Given the description of an element on the screen output the (x, y) to click on. 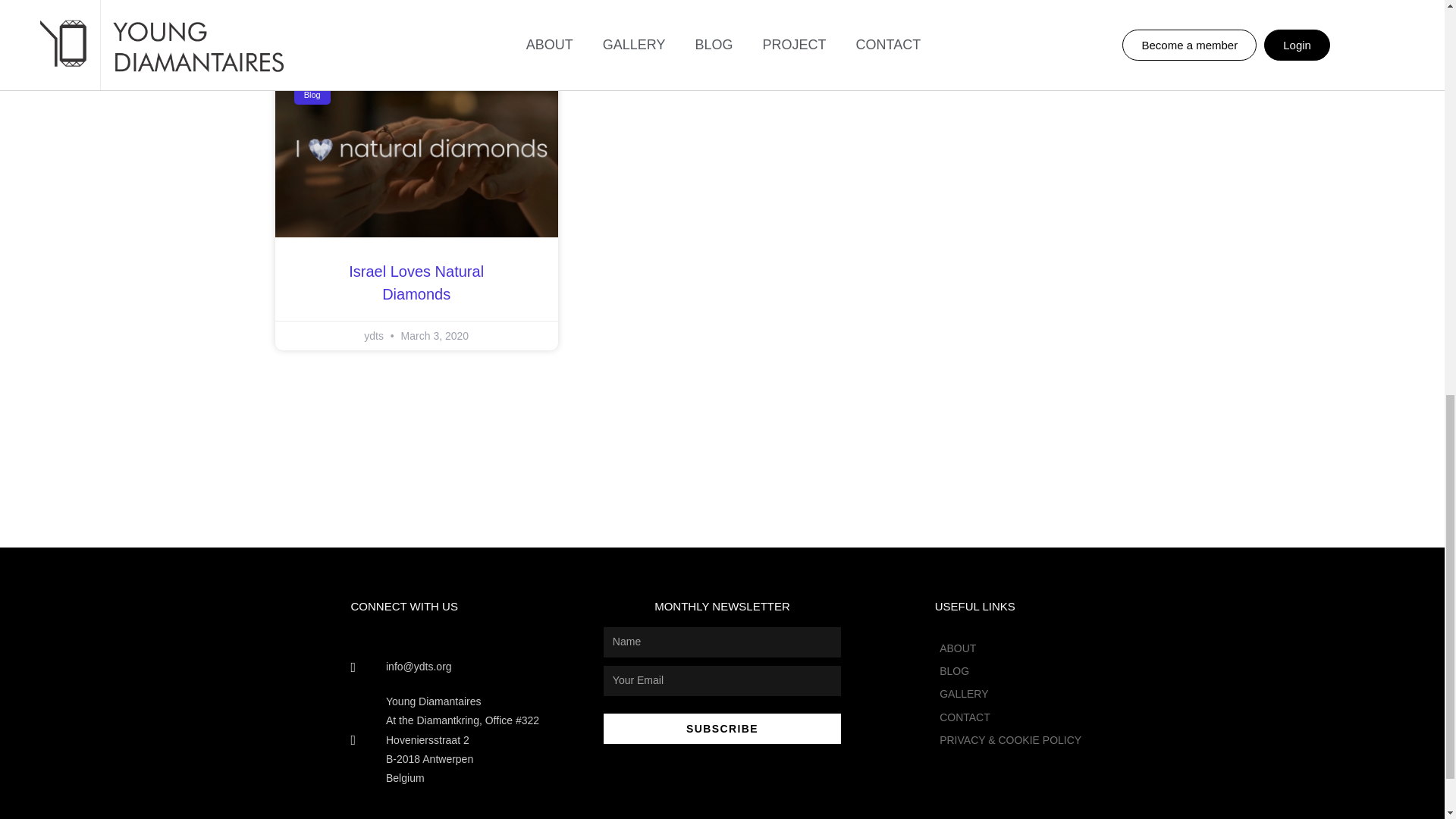
ABOUT (1010, 648)
Israel Loves Natural Diamonds (416, 282)
CONTACT (1010, 717)
GALLERY (1010, 693)
BLOG (1010, 670)
SUBSCRIBE (722, 728)
